Given the description of an element on the screen output the (x, y) to click on. 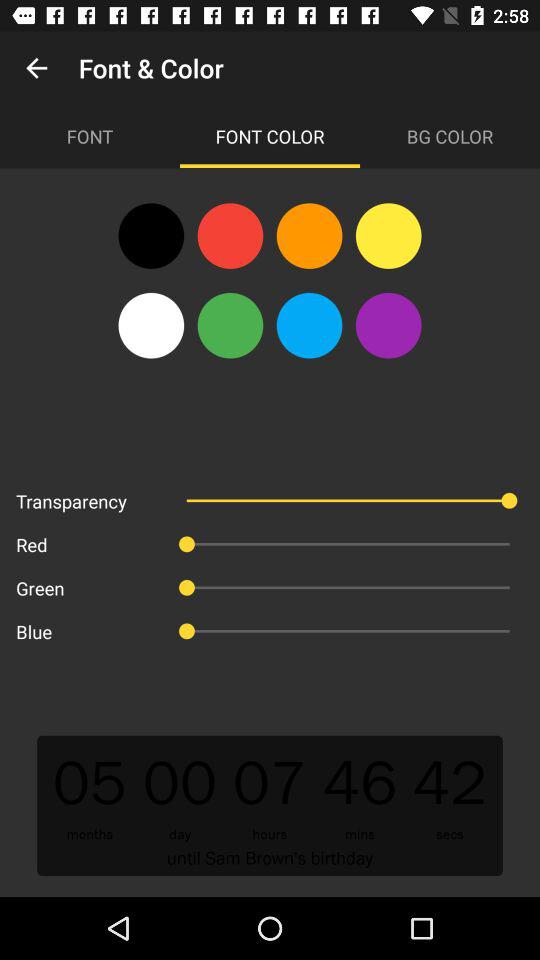
turn off the bg color item (450, 136)
